Given the description of an element on the screen output the (x, y) to click on. 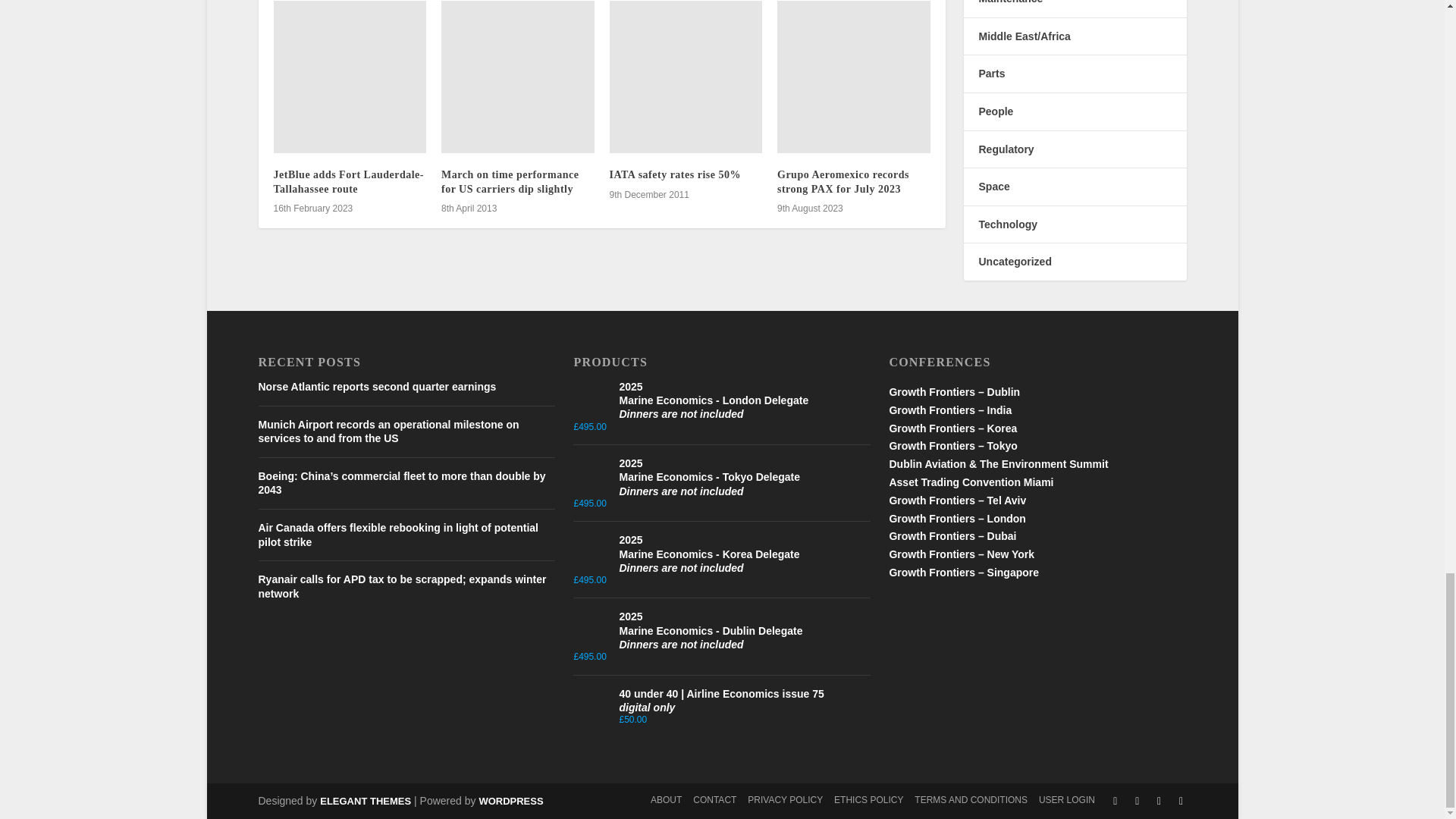
March on time performance for US carriers dip slightly (517, 76)
Grupo Aeromexico records strong PAX for July 2023 (853, 76)
JetBlue adds Fort Lauderdale-Tallahassee route (349, 76)
